Given the description of an element on the screen output the (x, y) to click on. 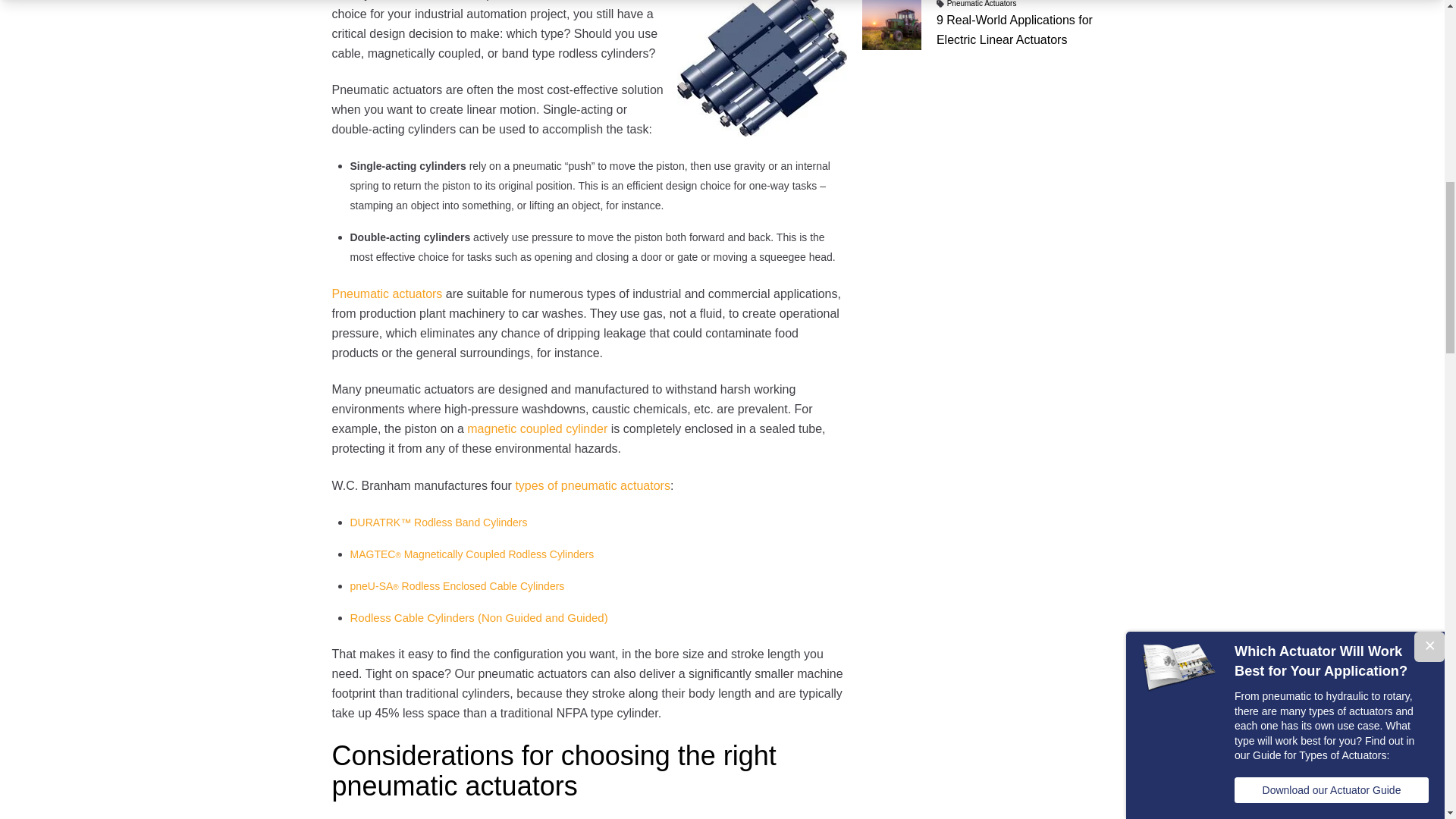
pneumatic actuators (762, 68)
